Given the description of an element on the screen output the (x, y) to click on. 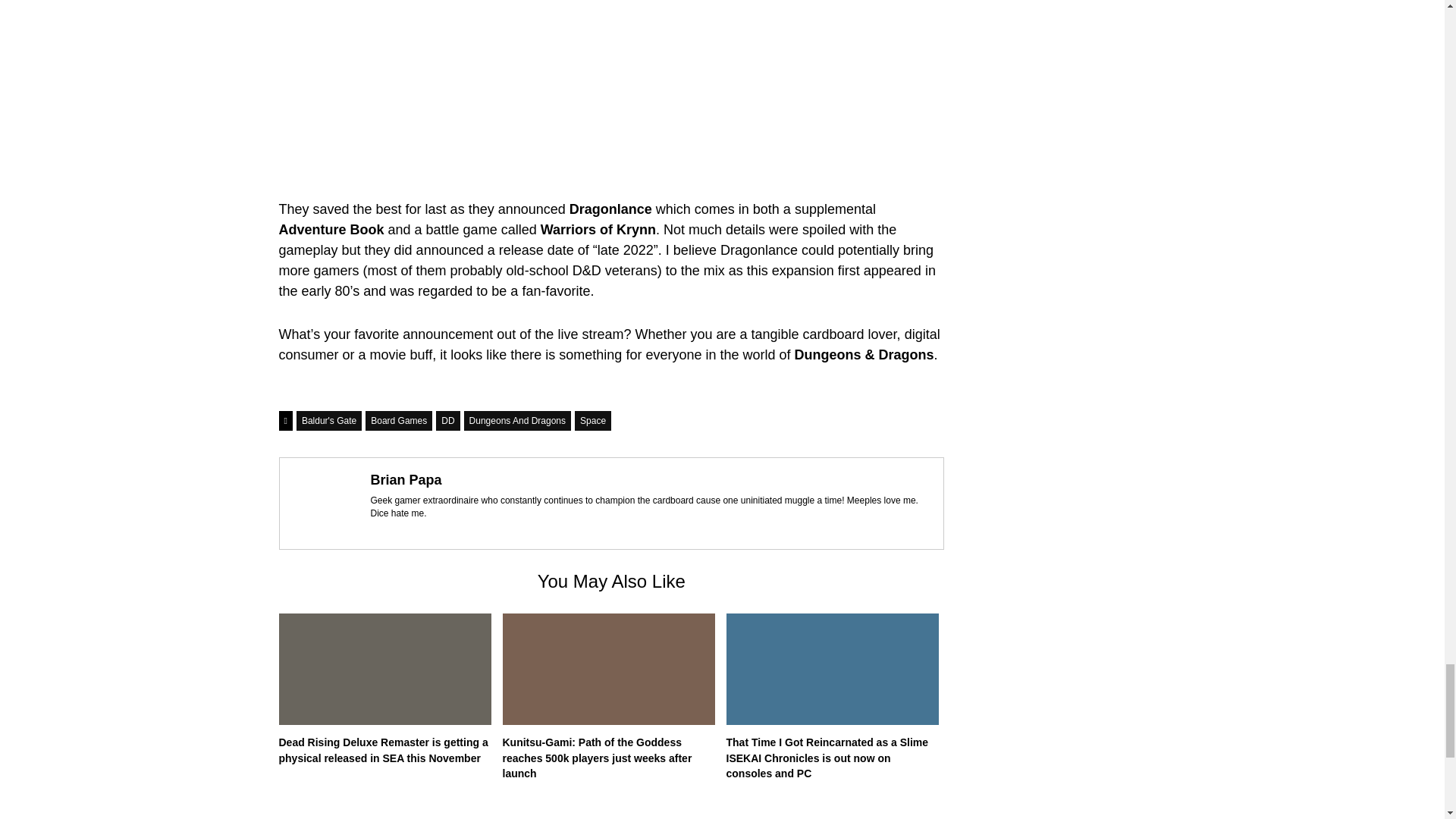
Space (593, 420)
Baldur'S Gate (329, 420)
Board Games (398, 420)
DD (447, 420)
Dungeons And Dragons (517, 420)
